Given the description of an element on the screen output the (x, y) to click on. 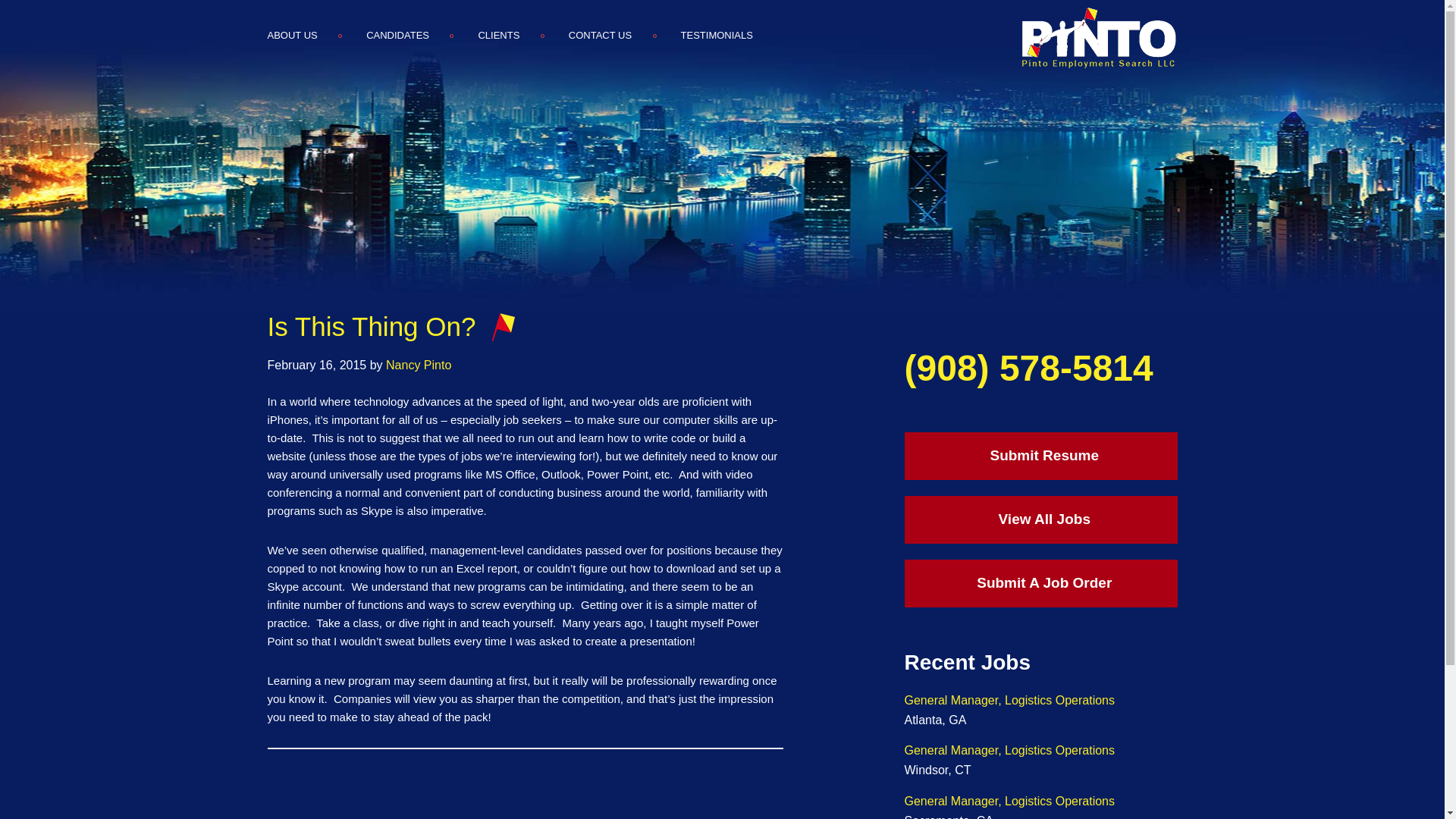
Pinto Employment Search (1095, 37)
Submit Resume (1040, 455)
Nancy Pinto (418, 364)
General Manager, Logistics Operations (1008, 800)
Call Today (1028, 368)
TESTIMONIALS (717, 35)
Submit A Job Order (1040, 583)
View All Jobs (1040, 519)
CLIENTS (497, 35)
CONTACT US (599, 35)
CANDIDATES (397, 35)
General Manager, Logistics Operations (1008, 749)
General Manager, Logistics Operations (1008, 699)
ABOUT US (302, 35)
